Given the description of an element on the screen output the (x, y) to click on. 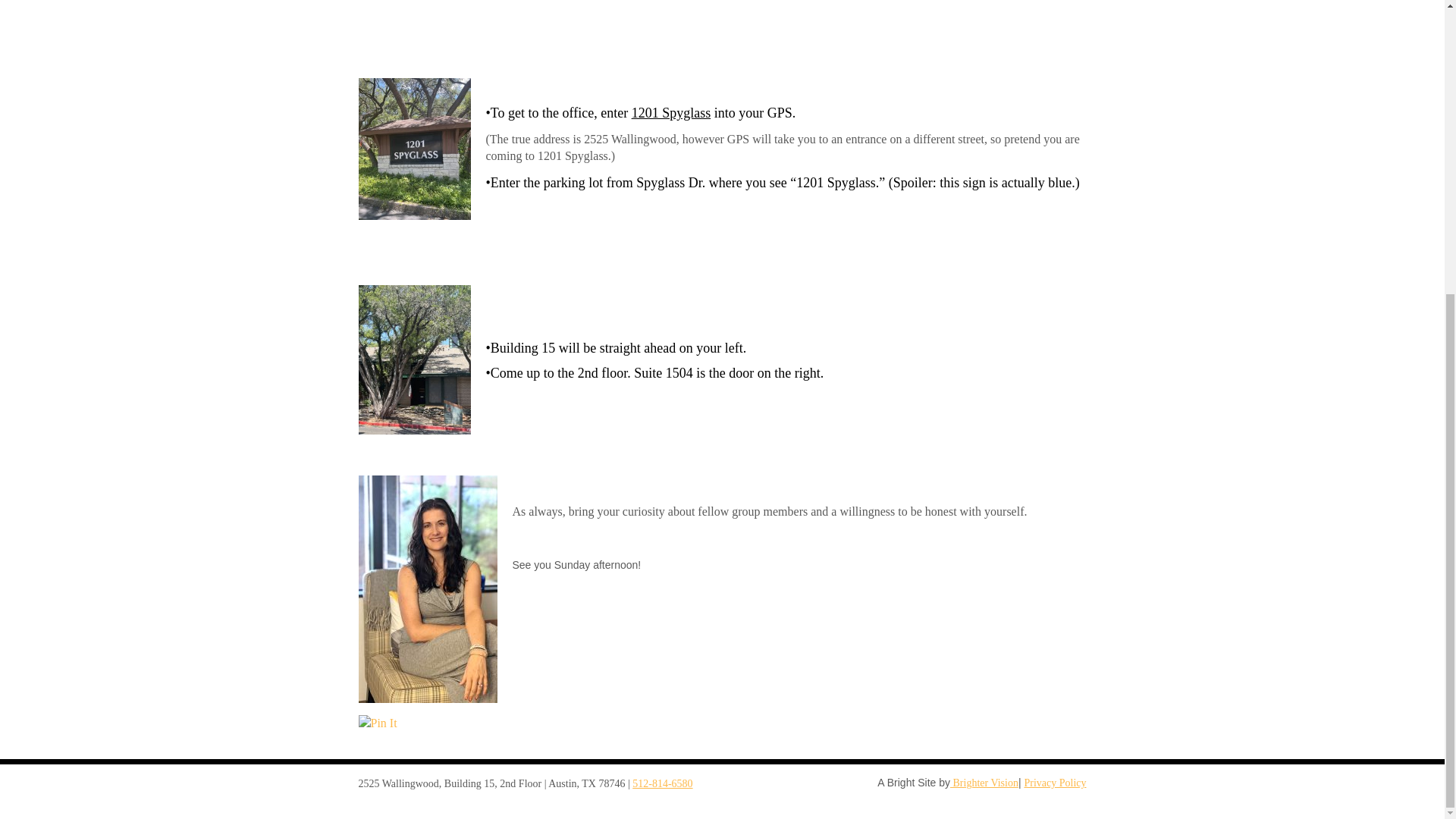
Pin It (377, 723)
Brighter Vision (983, 782)
Privacy Policy (1054, 782)
512-814-6580 (662, 783)
